Given the description of an element on the screen output the (x, y) to click on. 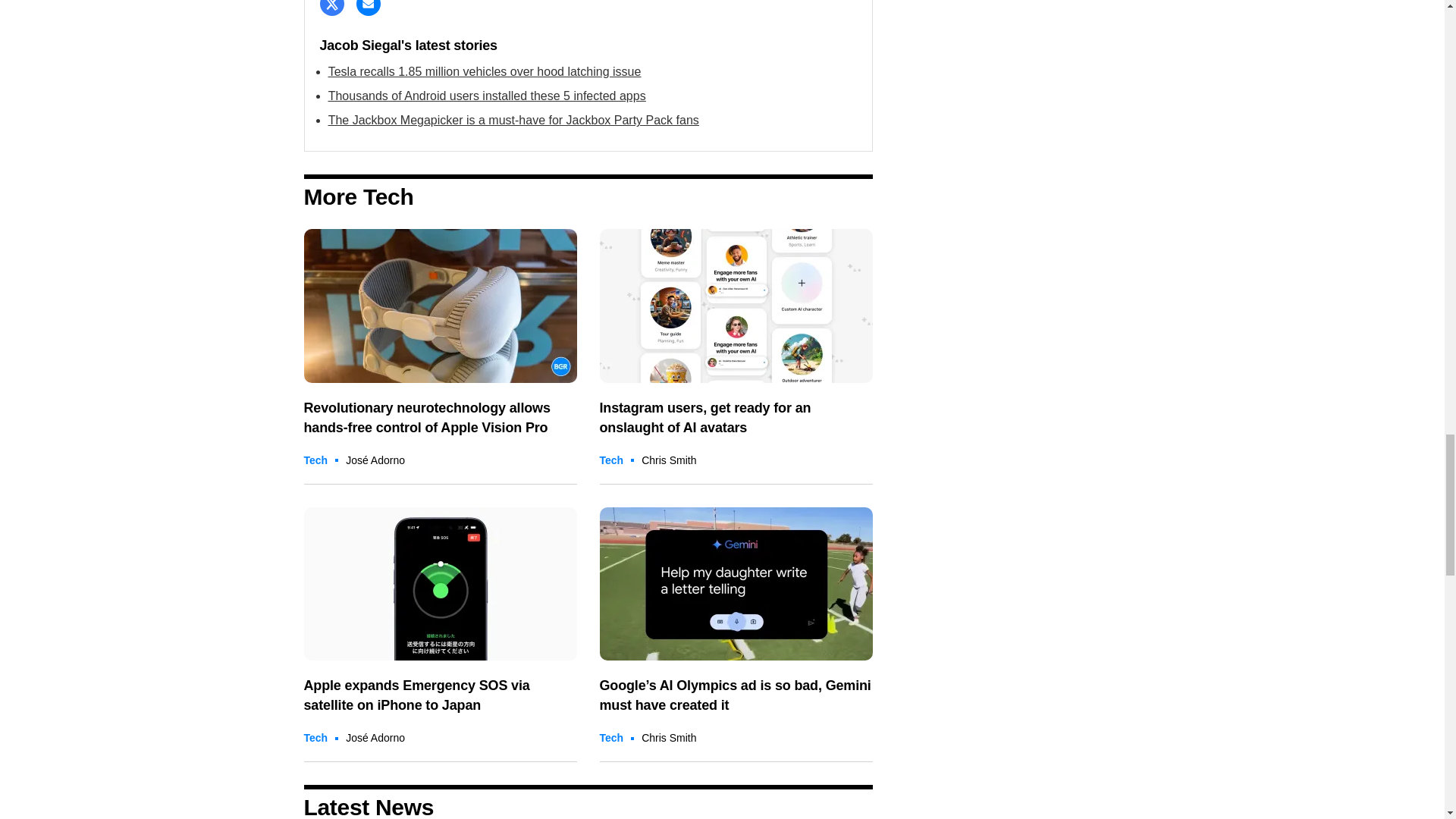
Posts by Chris Smith (668, 460)
Google Gemini (735, 583)
Posts by Chris Smith (668, 737)
Instagram AI Studio (735, 306)
